Given the description of an element on the screen output the (x, y) to click on. 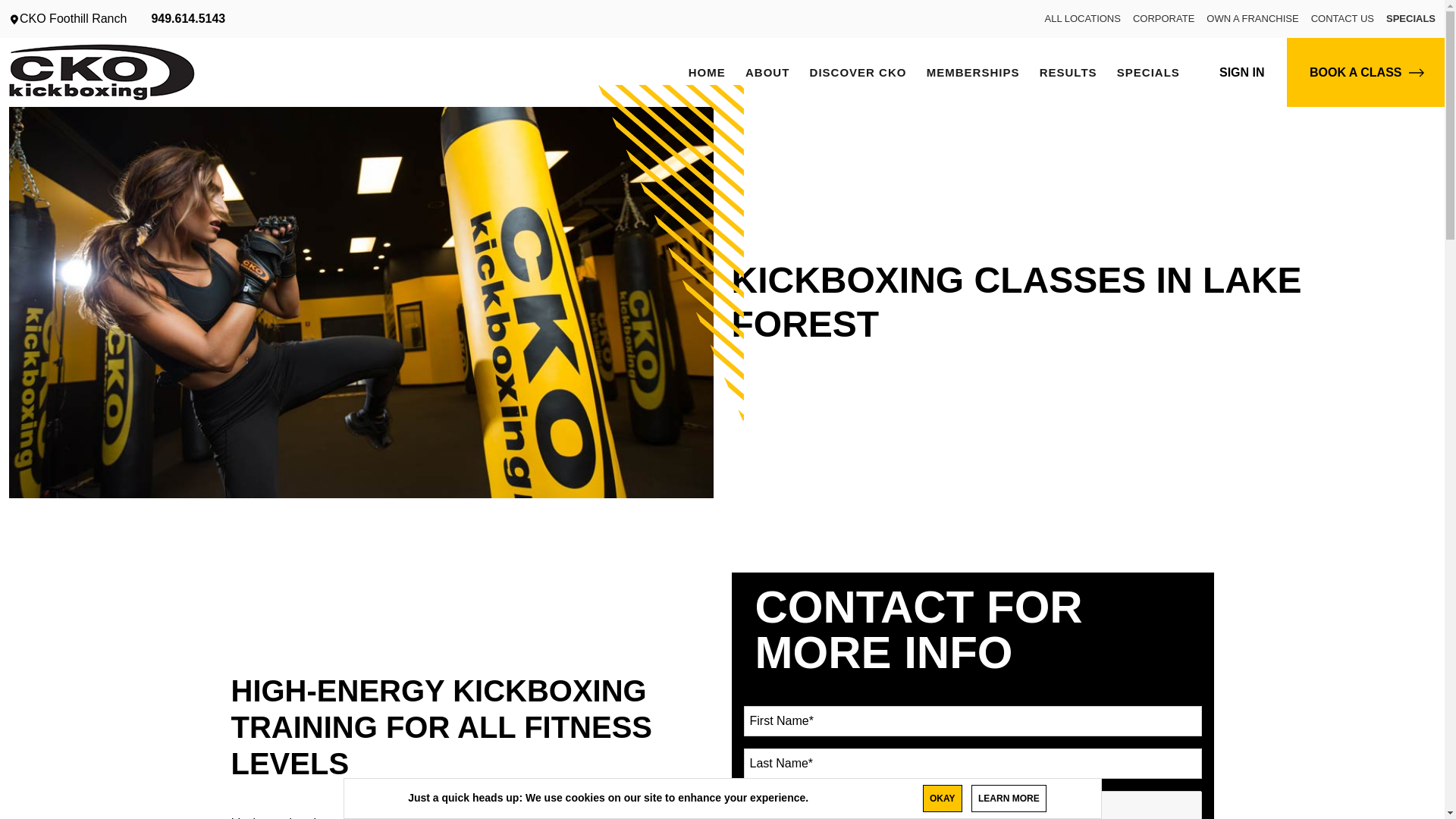
RESULTS (1067, 71)
Results (1067, 71)
About (767, 71)
ABOUT (767, 71)
MEMBERSHIPS (973, 71)
Memberships (973, 71)
949.614.5143 (188, 18)
CORPORATE (1162, 18)
Services (857, 71)
CONTACT US (1342, 18)
SPECIALS (1147, 71)
ALL LOCATIONS (1083, 18)
SIGN IN (1241, 72)
DISCOVER CKO (857, 71)
CKO Foothill Ranch (67, 18)
